Given the description of an element on the screen output the (x, y) to click on. 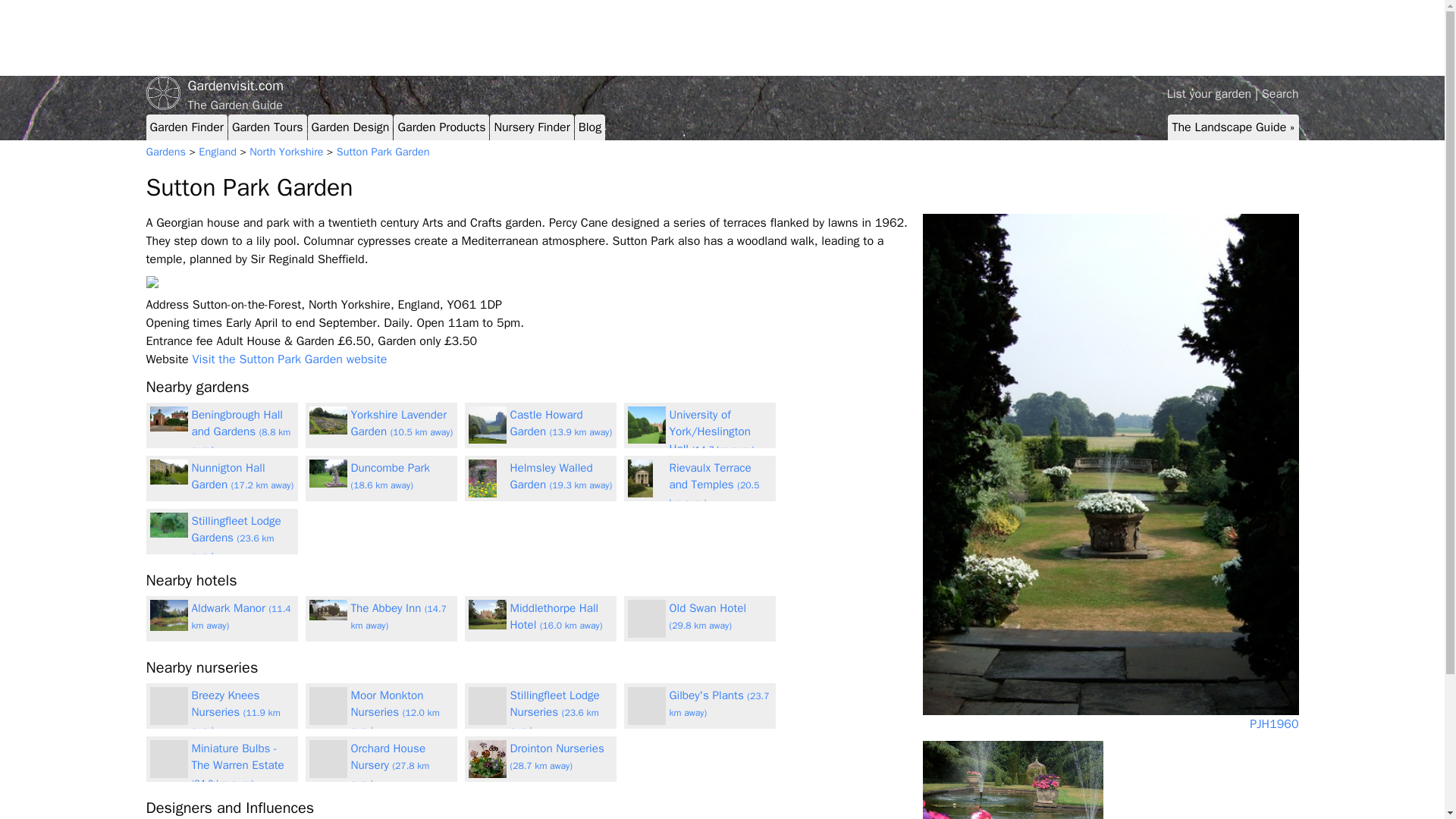
Garden Design (350, 126)
Garden Finder (186, 126)
Search (1280, 93)
Nursery Finder (531, 126)
Gardenvisit.com (721, 86)
3rd party ad content (421, 38)
Garden Products (440, 126)
Blog (589, 126)
List your garden (1209, 93)
Garden Tours (266, 126)
3rd party ad content (1216, 38)
